Given the description of an element on the screen output the (x, y) to click on. 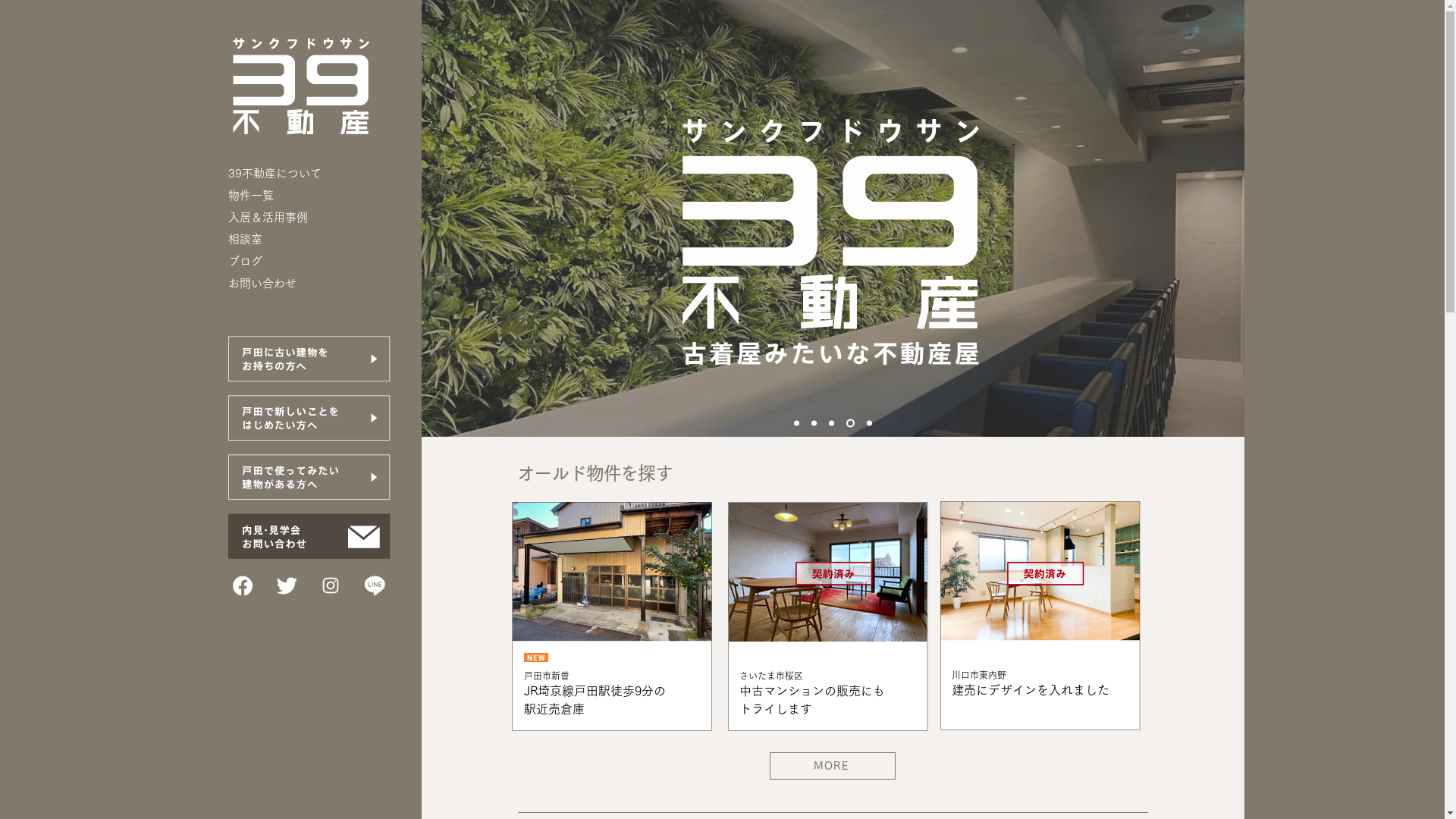
MORE Element type: text (831, 765)
